Given the description of an element on the screen output the (x, y) to click on. 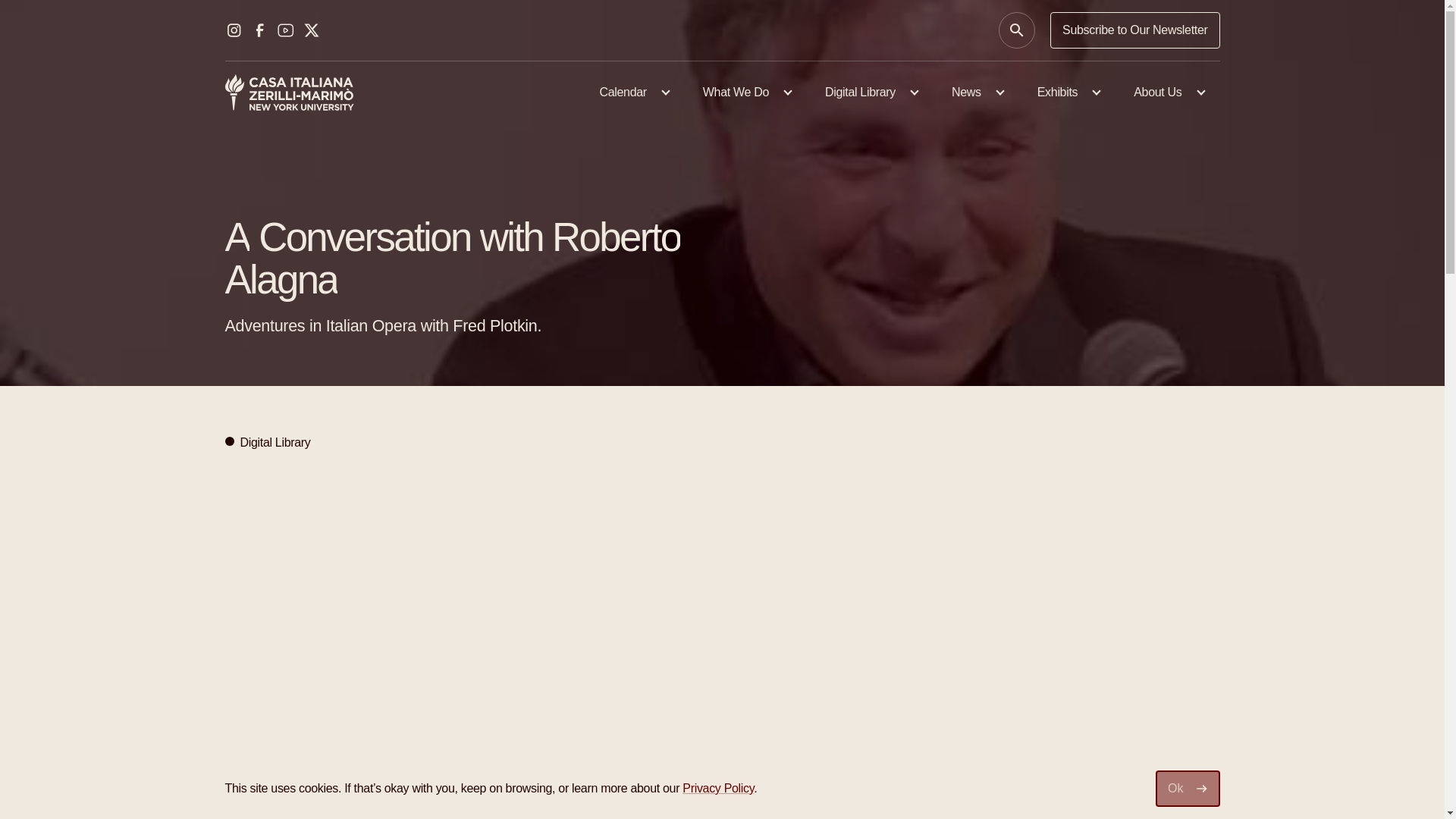
Privacy Policy (718, 788)
About Us (1167, 91)
Facebook (258, 30)
What We Do (745, 91)
Digital Library (869, 91)
Exhibits (1067, 91)
Calendar (632, 91)
Search (1016, 30)
Ok (1188, 788)
News (976, 91)
Subscribe to Our Newsletter (1134, 30)
YouTube (285, 30)
Instagram (233, 30)
